Given the description of an element on the screen output the (x, y) to click on. 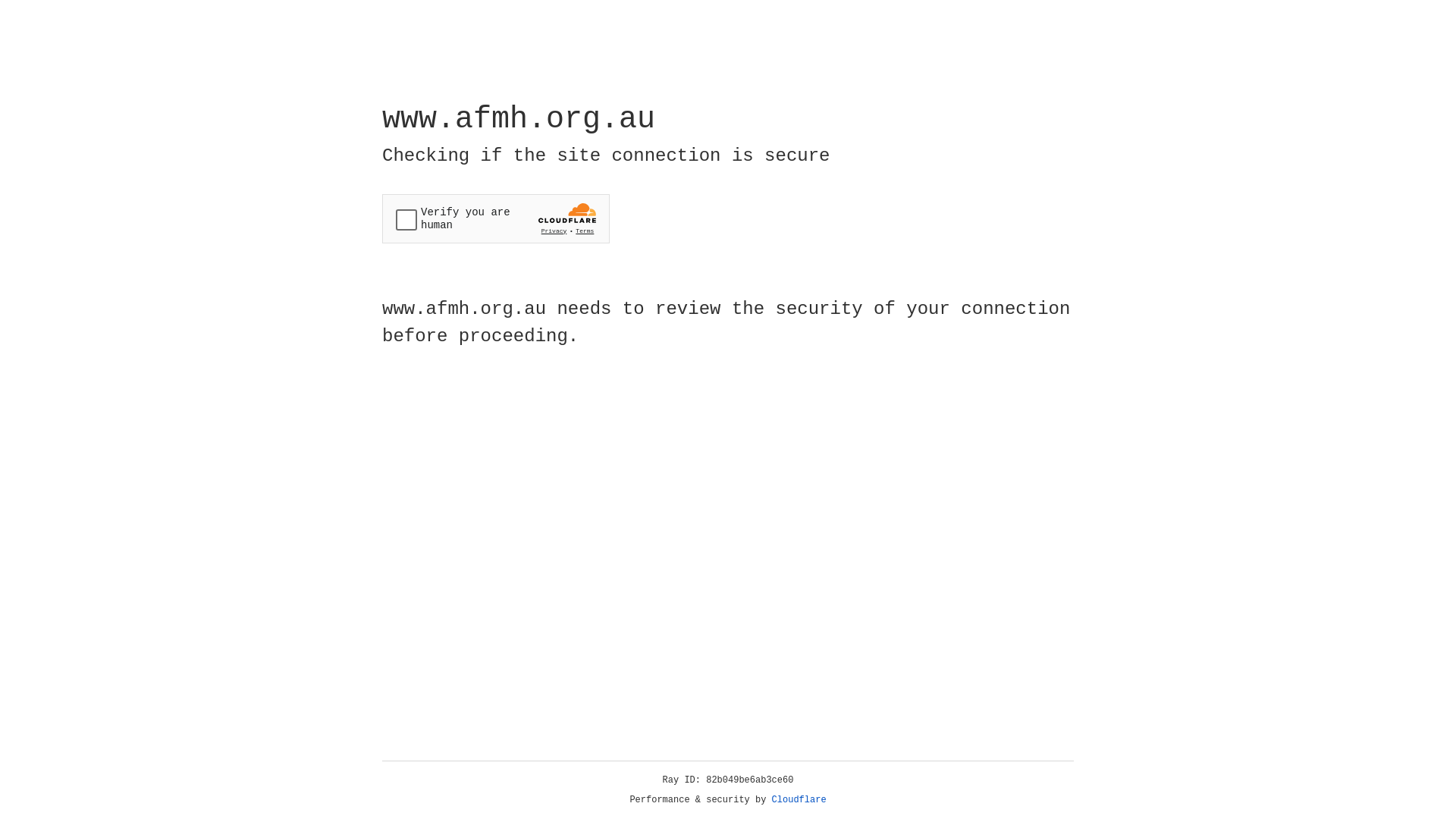
Widget containing a Cloudflare security challenge Element type: hover (495, 218)
Cloudflare Element type: text (798, 799)
